Given the description of an element on the screen output the (x, y) to click on. 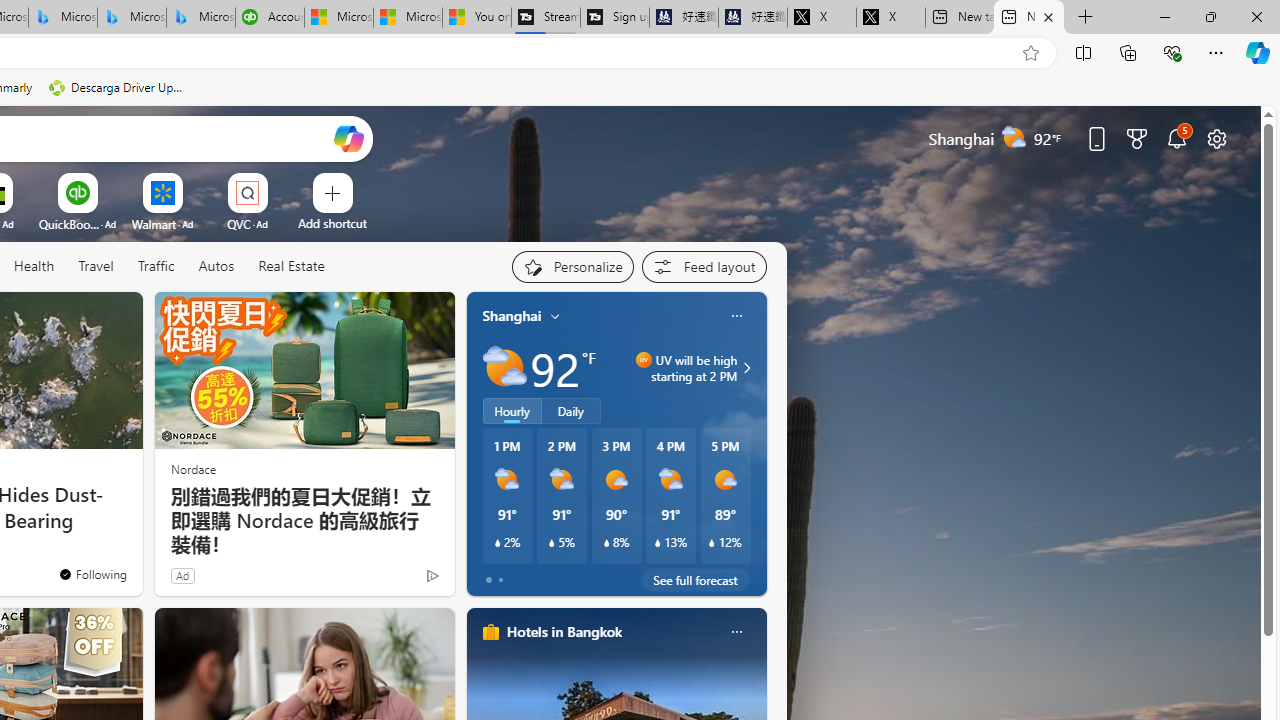
Microsoft Start (407, 17)
Close tab (1048, 16)
Partly sunny (504, 368)
Daily (571, 411)
Streaming Coverage | T3 (545, 17)
You're following Newsweek (92, 573)
Ad Choice (432, 575)
Travel (95, 265)
Split screen (1083, 52)
